Given the description of an element on the screen output the (x, y) to click on. 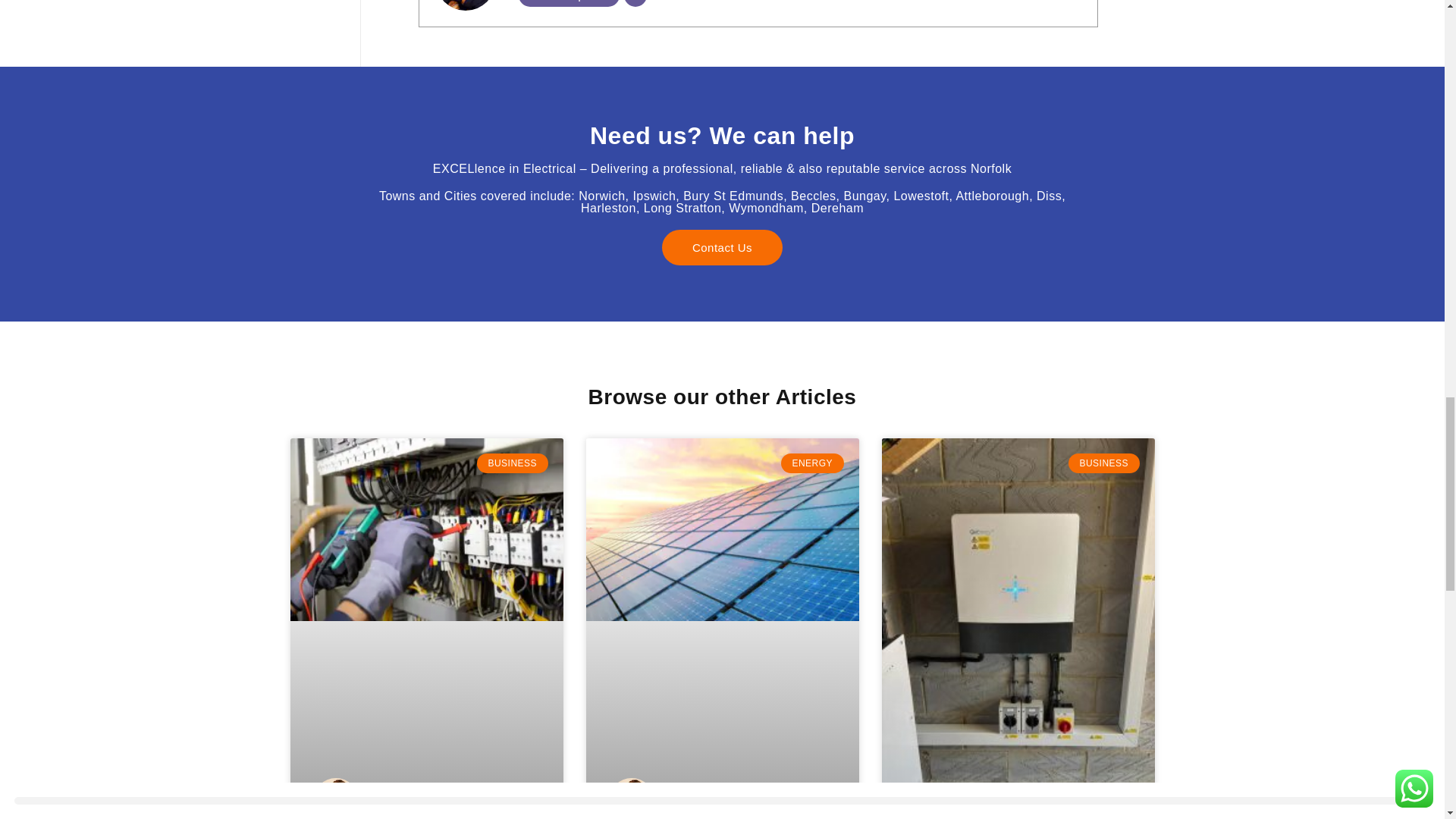
View all posts (569, 3)
Contact Us (722, 246)
View all posts (569, 3)
